Given the description of an element on the screen output the (x, y) to click on. 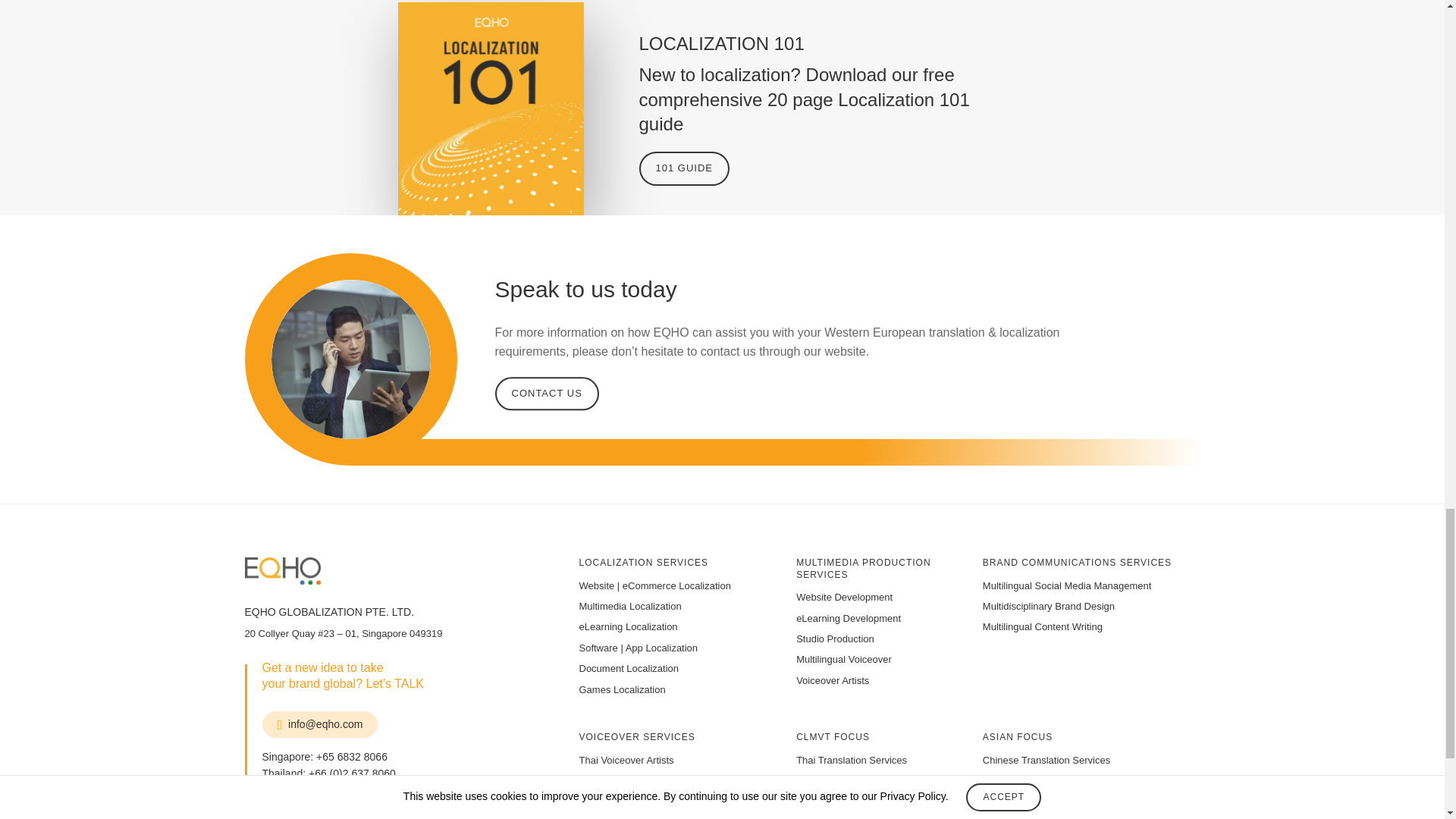
CONTACT US (546, 393)
Multimedia Localization (630, 605)
101 GUIDE (684, 168)
